Given the description of an element on the screen output the (x, y) to click on. 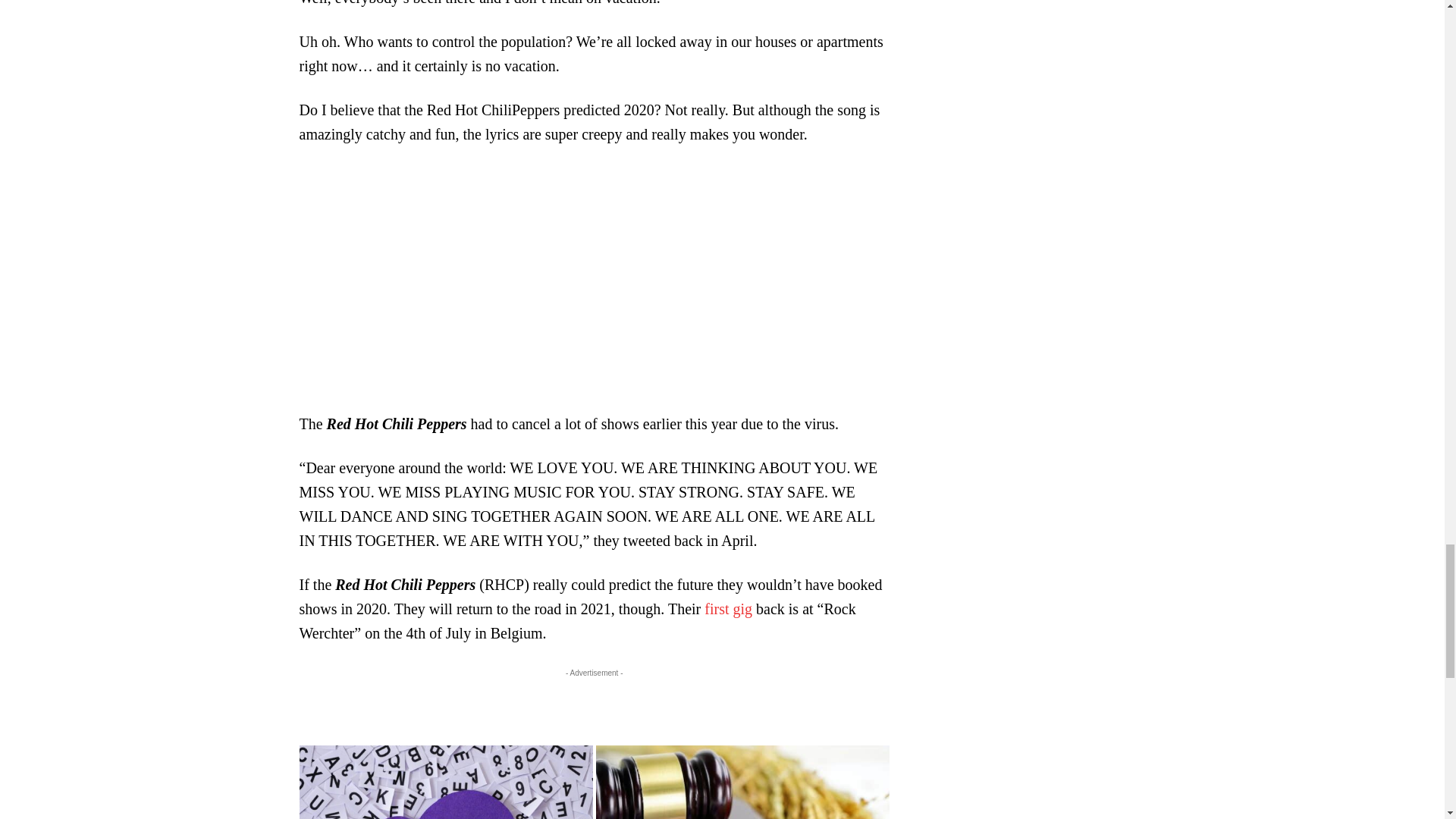
first gig (728, 608)
How to Find the Perfect Web Host for Your Business (445, 782)
